Given the description of an element on the screen output the (x, y) to click on. 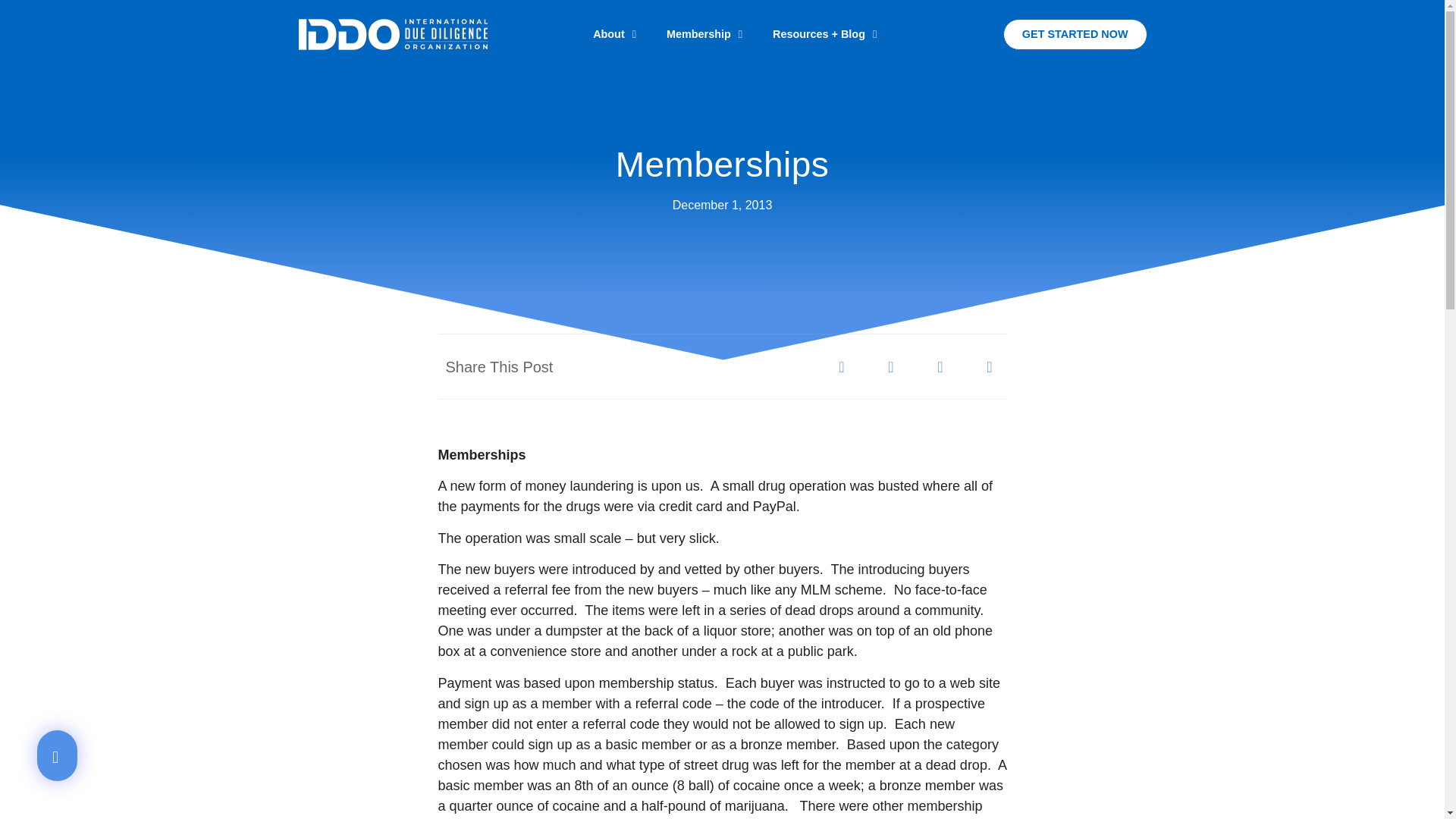
December 1, 2013 (722, 205)
About (614, 33)
GET STARTED NOW (1075, 33)
Membership (703, 33)
